Given the description of an element on the screen output the (x, y) to click on. 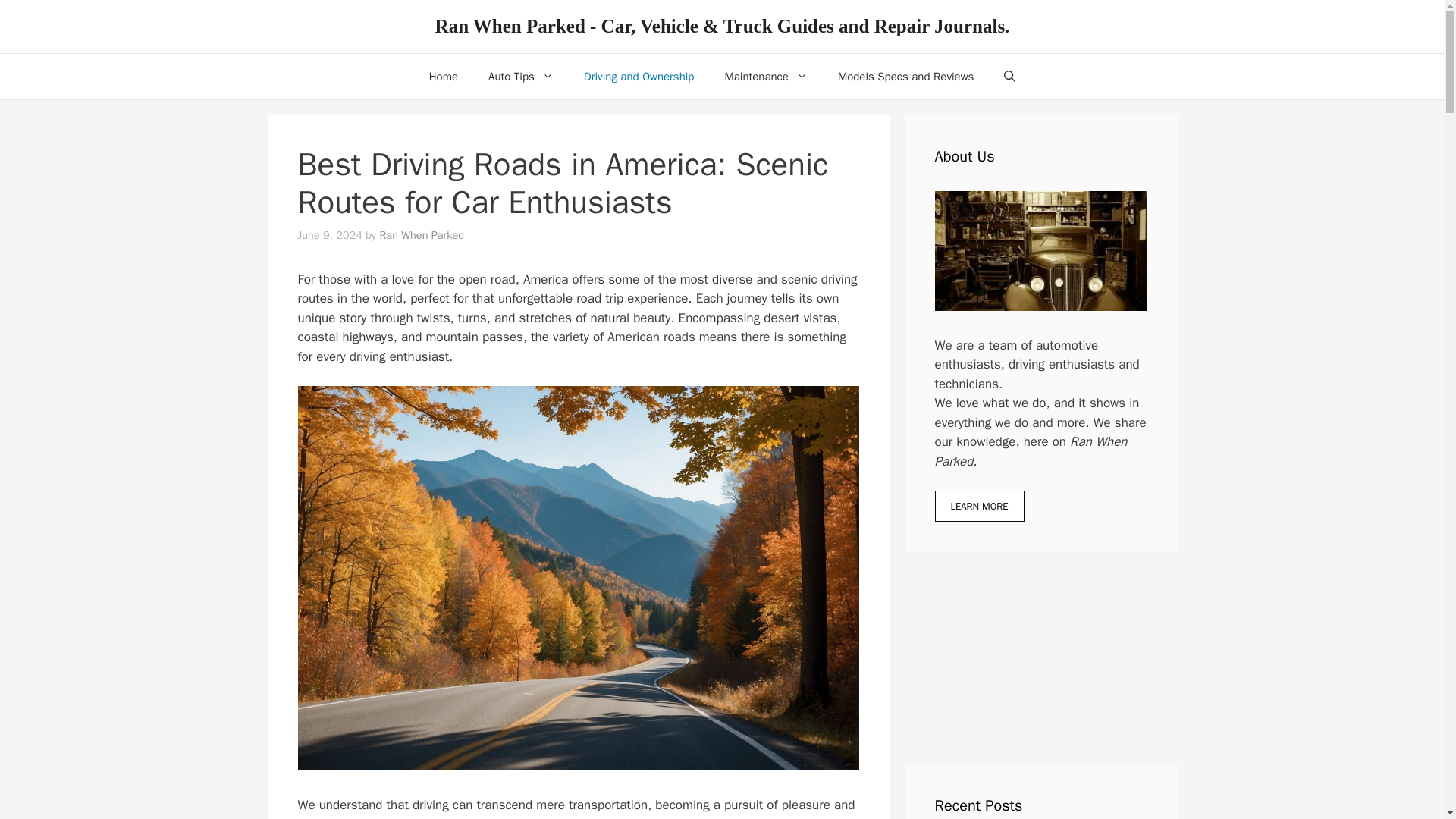
Driving and Ownership (639, 76)
Ran When Parked (421, 234)
Auto Tips (521, 76)
View all posts by Ran When Parked (421, 234)
Models Specs and Reviews (905, 76)
Maintenance (765, 76)
Home (443, 76)
